Given the description of an element on the screen output the (x, y) to click on. 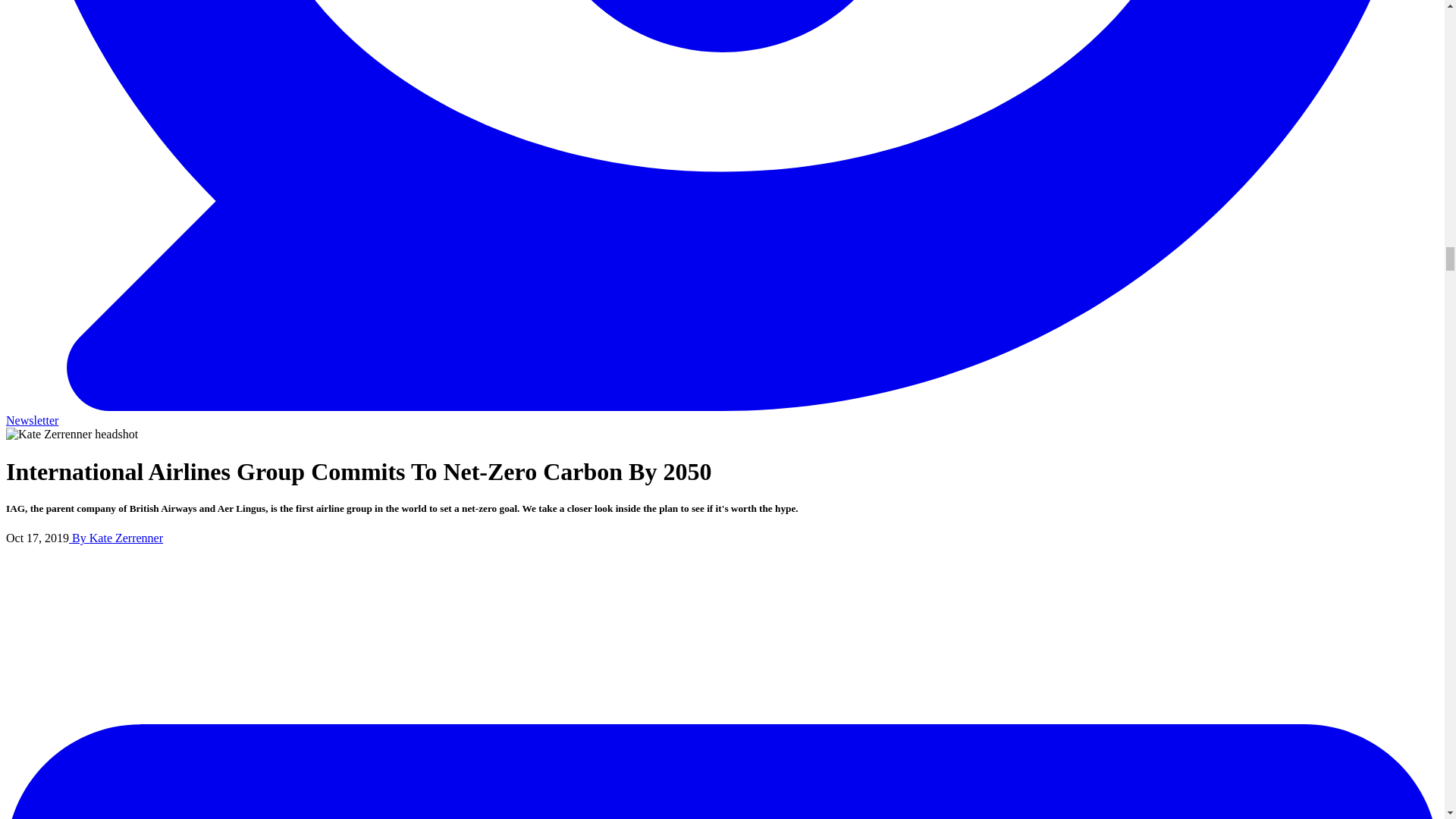
Newsletter (31, 420)
By Kate Zerrenner (115, 537)
